Given the description of an element on the screen output the (x, y) to click on. 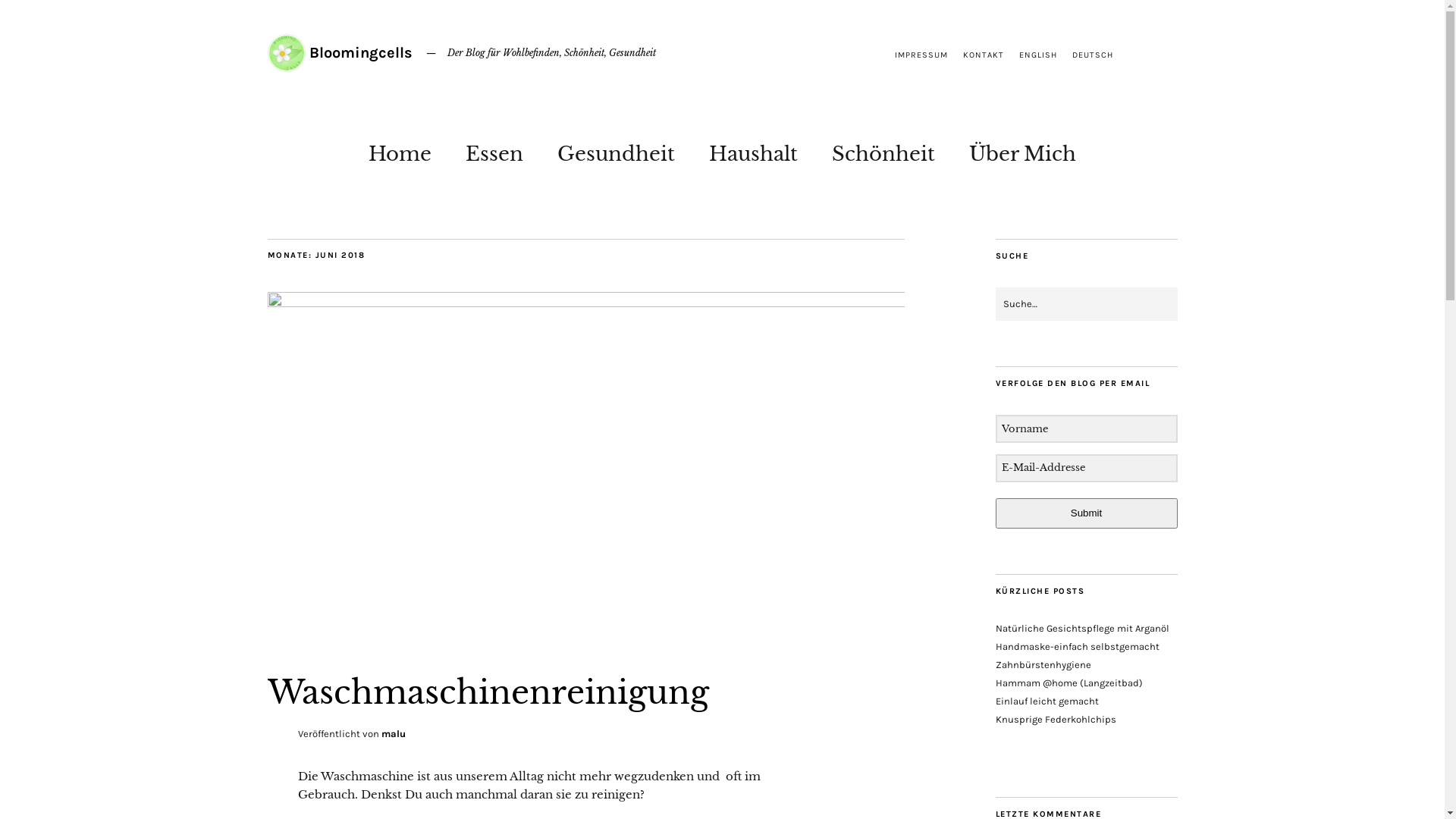
malu Element type: text (392, 733)
Knusprige Federkohlchips Element type: text (1054, 718)
Submit Element type: text (1085, 513)
Permalink zu Waschmaschinenreinigung Element type: hover (584, 302)
KONTAKT Element type: text (983, 54)
Suche Element type: text (28, 15)
Handmaske-einfach selbstgemacht Element type: text (1076, 646)
Essen Element type: text (494, 150)
Hammam @home (Langzeitbad) Element type: text (1068, 682)
Home Element type: text (399, 150)
IMPRESSUM Element type: text (920, 54)
Waschmaschinenreinigung Element type: text (487, 691)
Gesundheit Element type: text (615, 150)
ENGLISH Element type: text (1038, 55)
Einlauf leicht gemacht Element type: text (1046, 700)
Haushalt Element type: text (753, 150)
DEUTSCH Element type: text (1092, 55)
Bloomingcells Element type: text (360, 52)
